Given the description of an element on the screen output the (x, y) to click on. 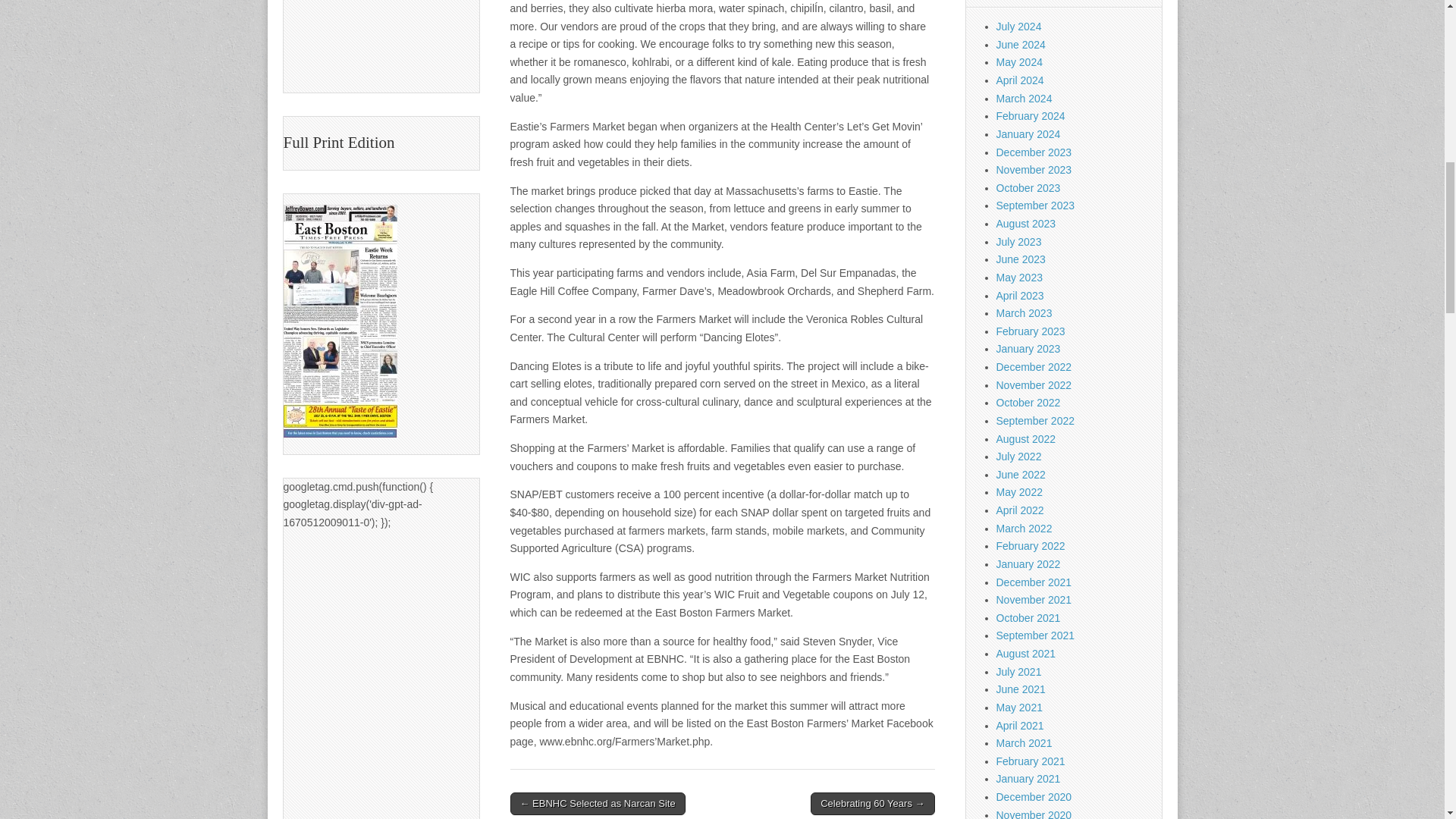
April 2024 (1019, 80)
March 2024 (1023, 98)
July 2024 (1018, 26)
June 2024 (1020, 44)
May 2024 (1018, 61)
